Given the description of an element on the screen output the (x, y) to click on. 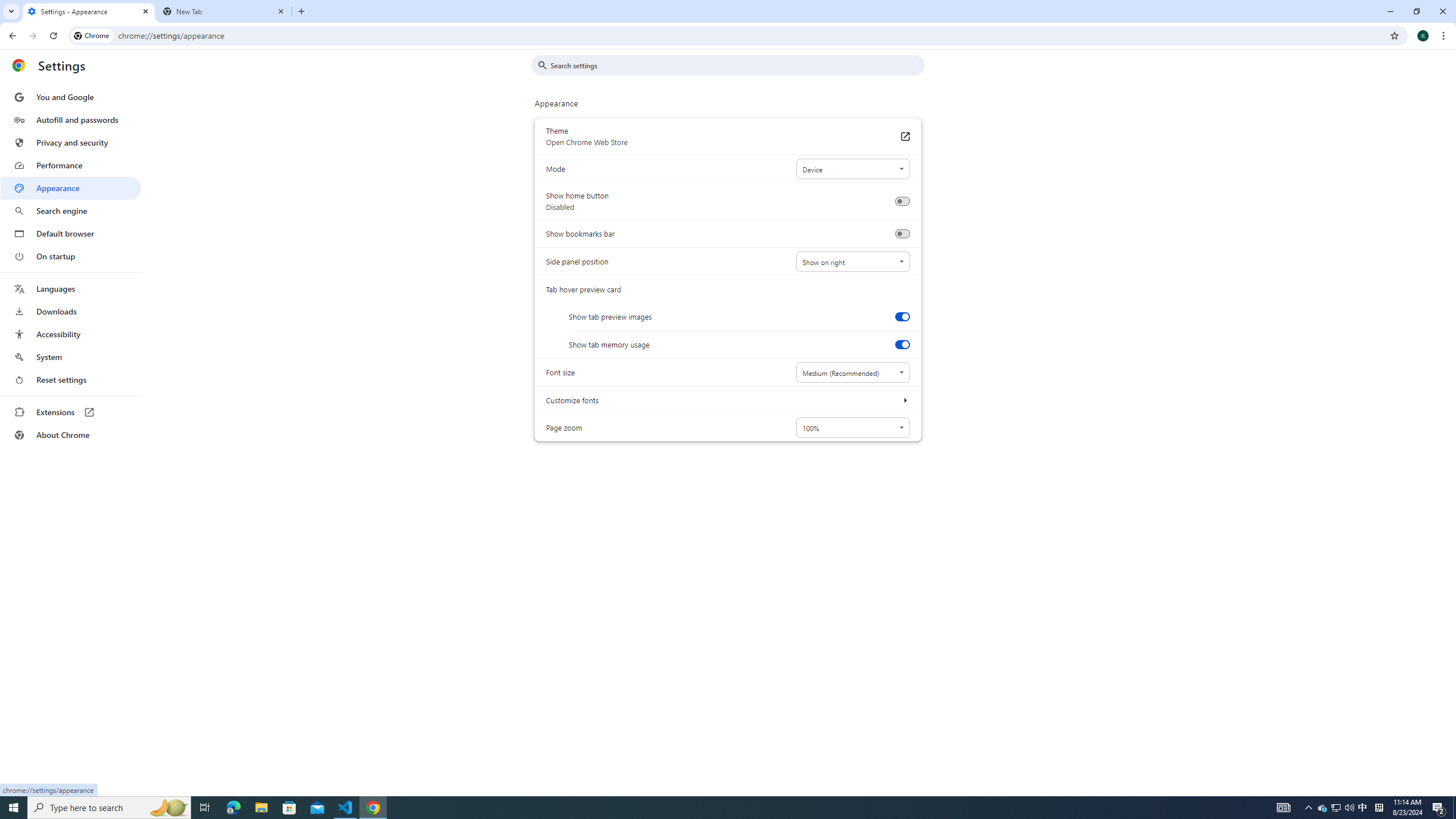
Show bookmarks bar (901, 234)
Performance (70, 164)
Font size (852, 372)
Search engine (70, 210)
Page zoom (852, 427)
New Tab (224, 11)
On startup (70, 255)
Search settings (735, 65)
Extensions (70, 412)
Customize fonts (904, 399)
